Given the description of an element on the screen output the (x, y) to click on. 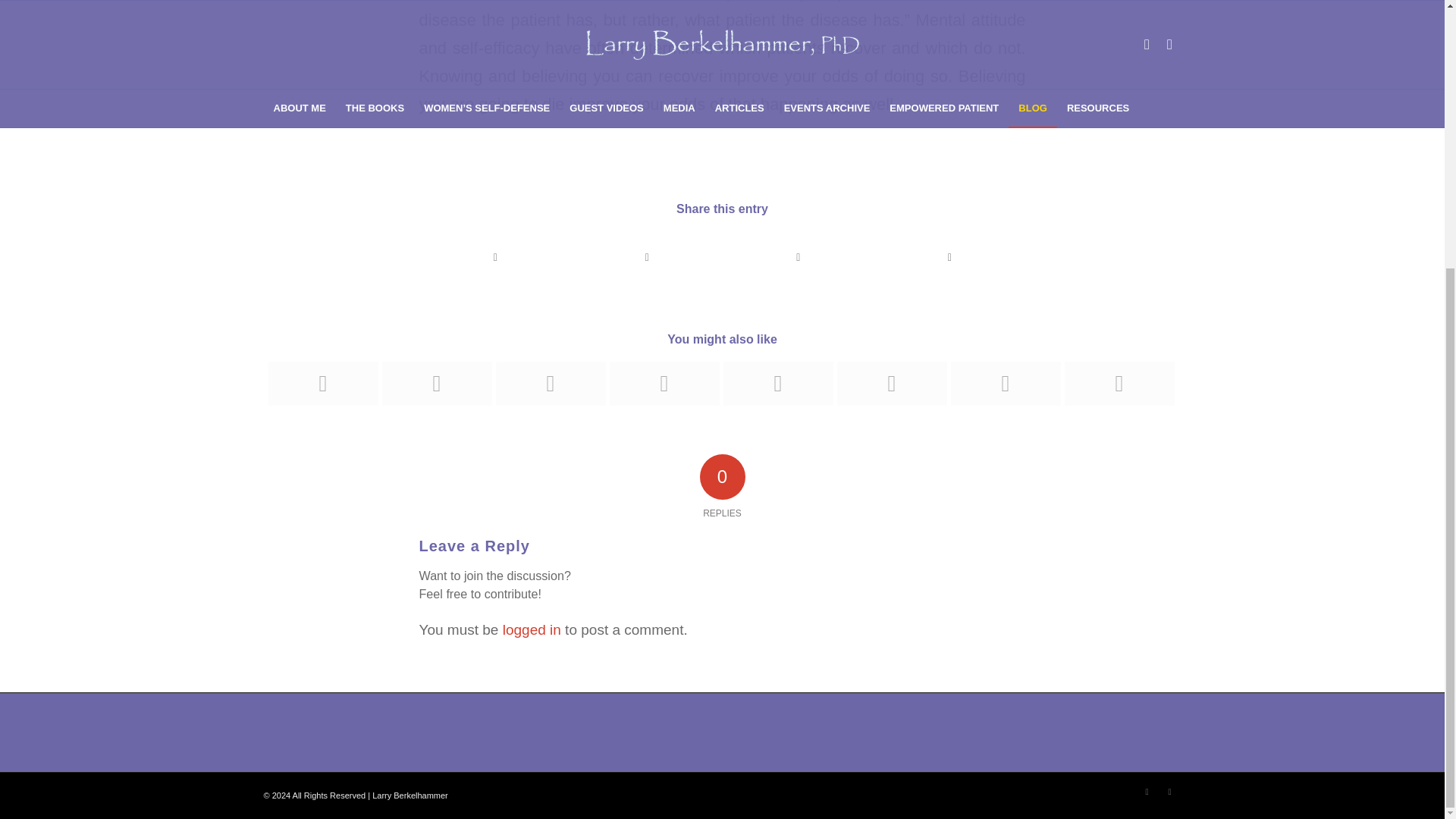
Video: Three Questions To Ask Your Doctor (322, 383)
